Given the description of an element on the screen output the (x, y) to click on. 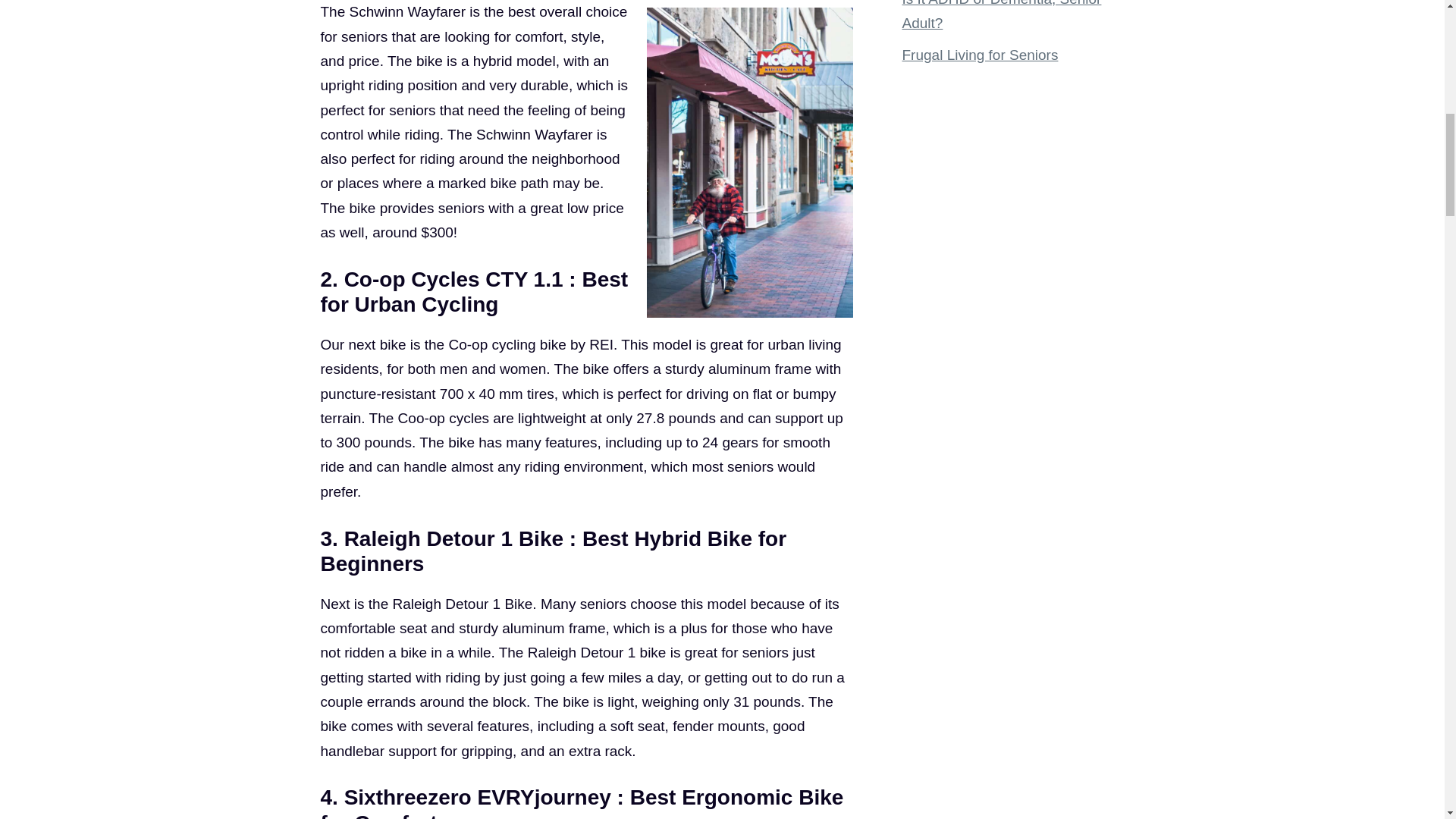
Frugal Living for Seniors (980, 54)
Is It ADHD or Dementia, Senior Adult? (1002, 15)
Scroll back to top (1406, 720)
